Given the description of an element on the screen output the (x, y) to click on. 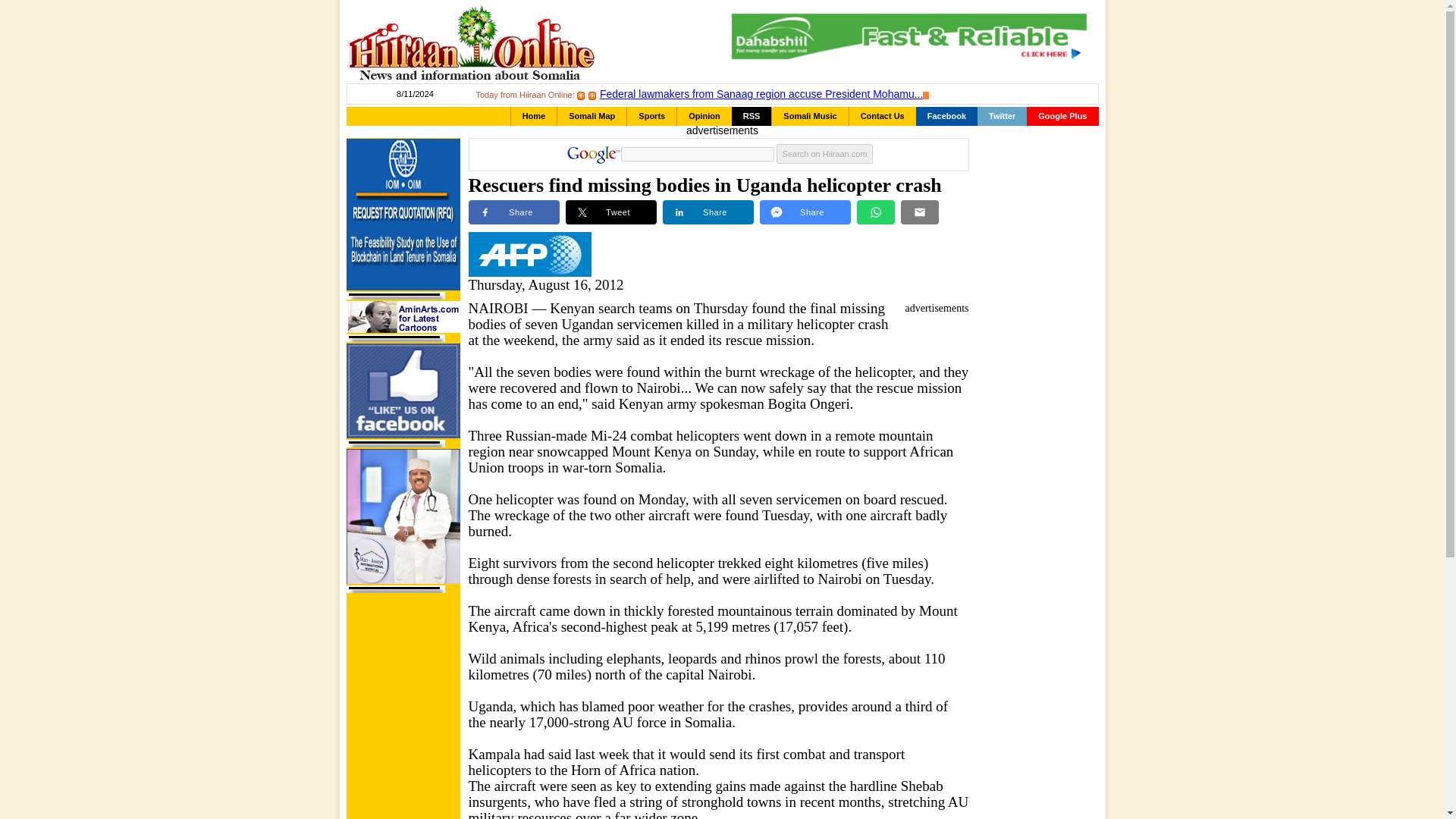
Search on Hiiraan.com (824, 153)
Twitter (1001, 116)
RSS (751, 116)
Somali Map (591, 116)
Contact Us (881, 116)
Google Plus (1061, 116)
Home (534, 116)
Opinion (704, 116)
Sports (652, 116)
